Given the description of an element on the screen output the (x, y) to click on. 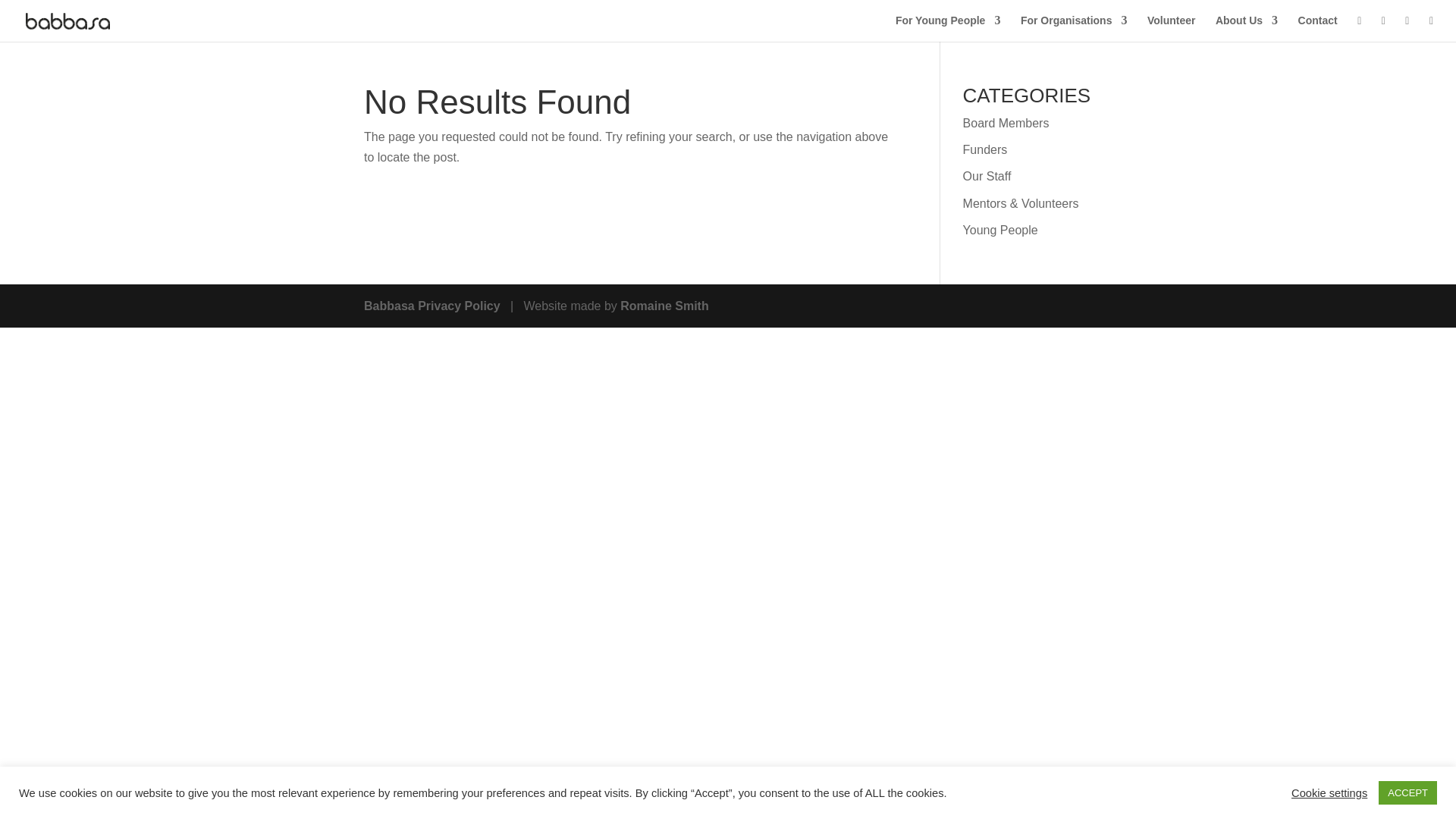
About Us (1246, 27)
Volunteer (1171, 27)
For Young People (948, 27)
For Organisations (1073, 27)
Contact (1318, 27)
